Given the description of an element on the screen output the (x, y) to click on. 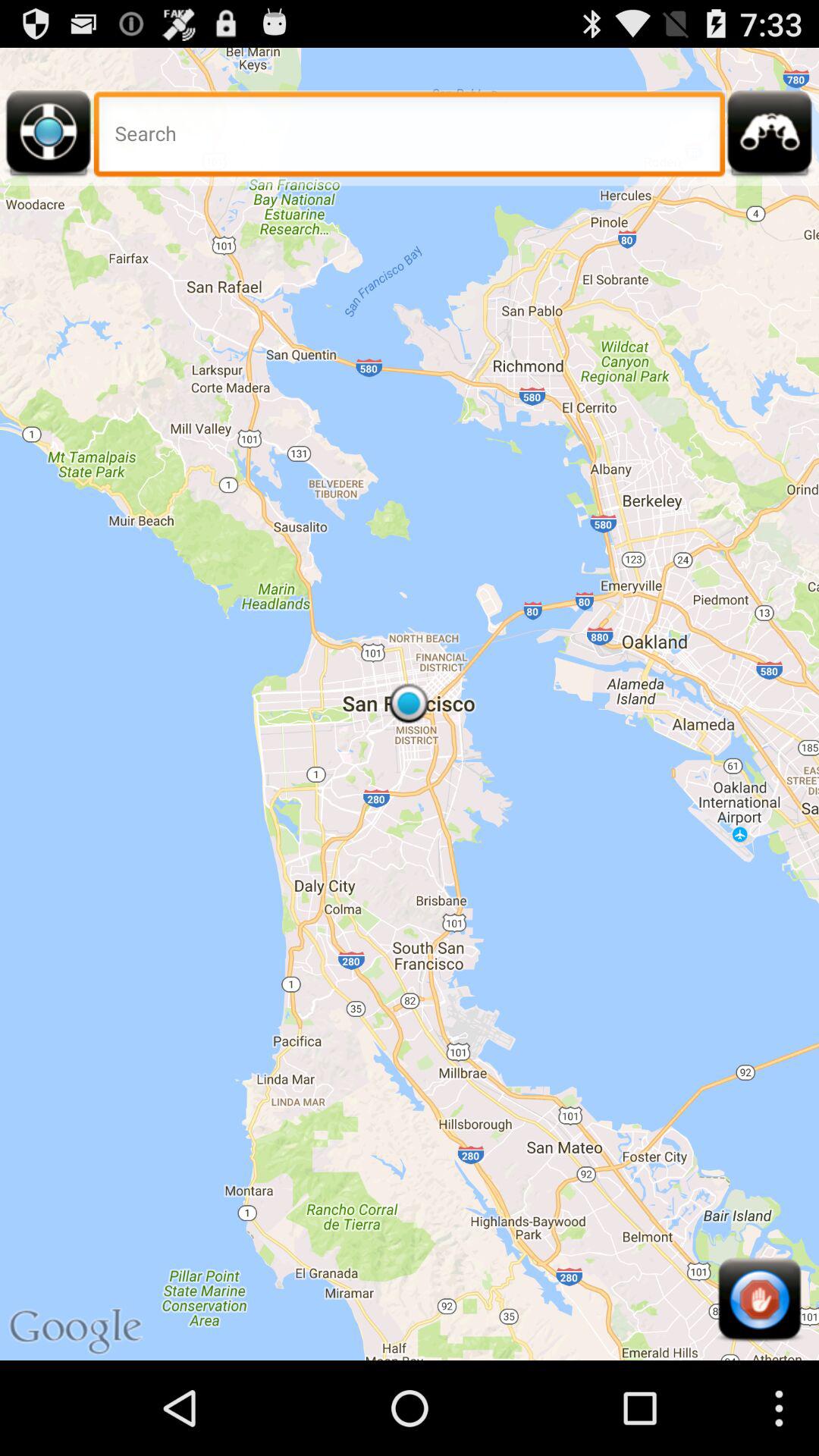
get directions (48, 137)
